Given the description of an element on the screen output the (x, y) to click on. 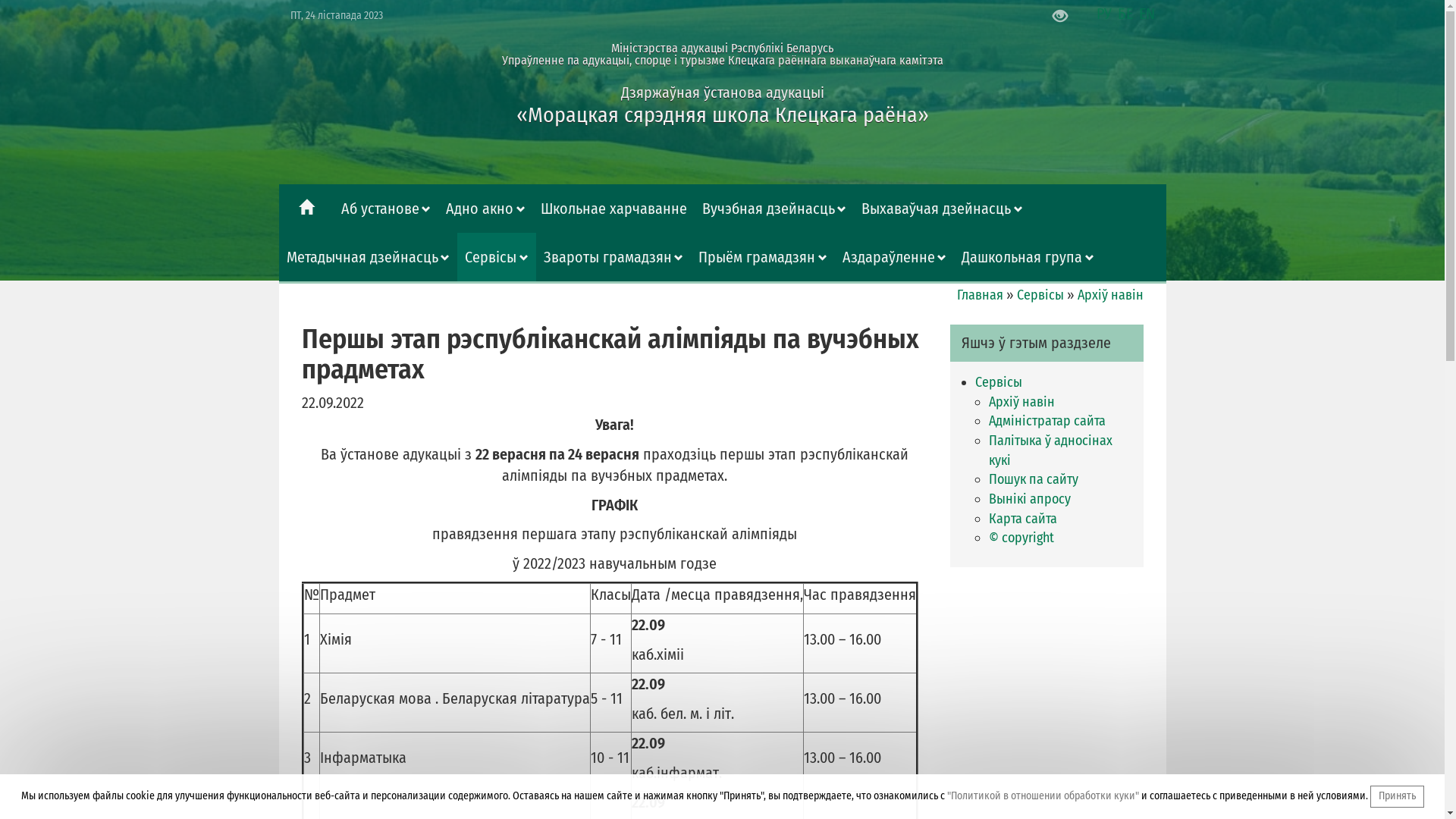
EN Element type: text (1146, 13)
